Given the description of an element on the screen output the (x, y) to click on. 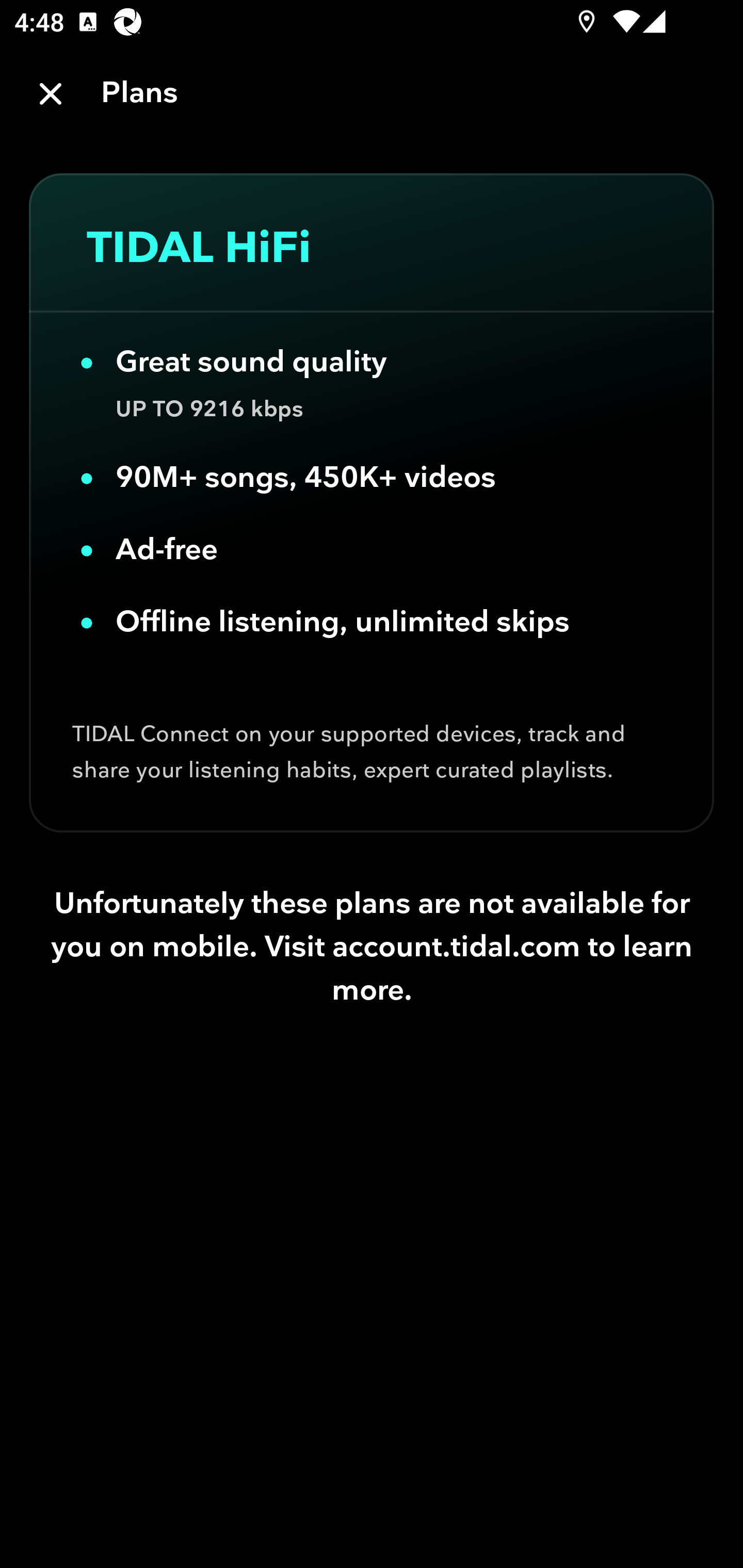
Close (50, 93)
